Given the description of an element on the screen output the (x, y) to click on. 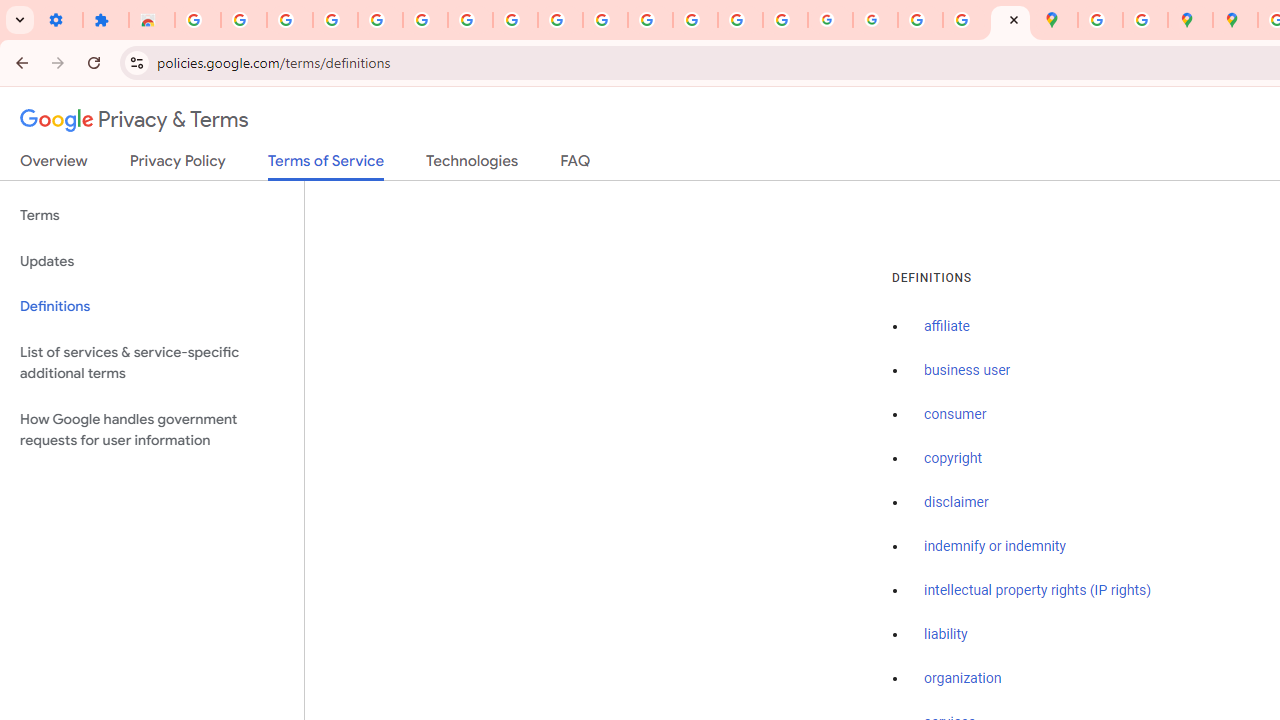
Settings - On startup (60, 20)
disclaimer (956, 502)
intellectual property rights (IP rights) (1038, 590)
YouTube (559, 20)
indemnify or indemnity (995, 546)
Google Account (514, 20)
